Given the description of an element on the screen output the (x, y) to click on. 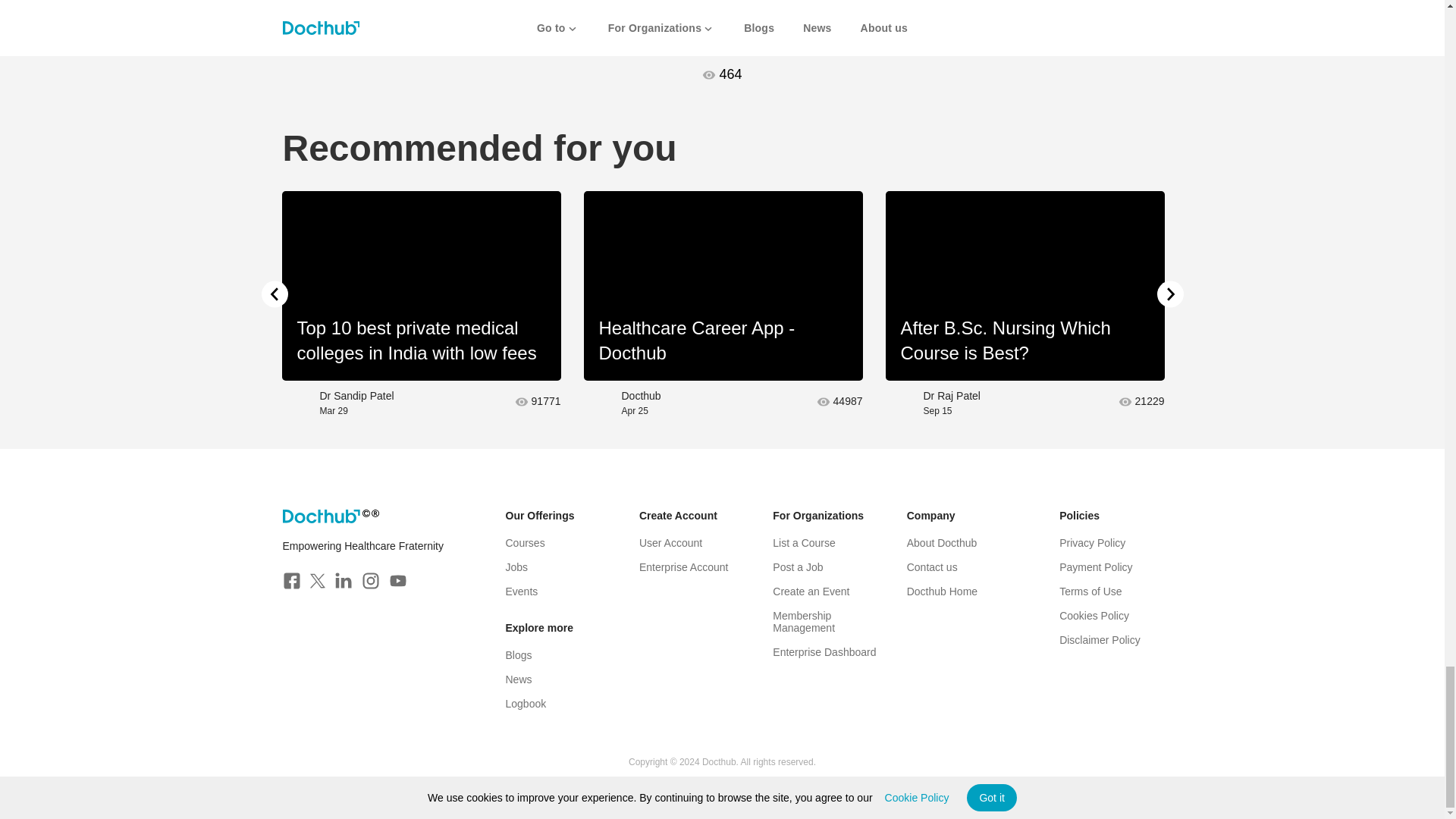
Healthcare Career App - Docthub (723, 285)
News (518, 679)
Top 10 best private medical colleges in India with low fees (421, 285)
Logbook (525, 703)
Courses (524, 542)
Blogs (518, 654)
Jobs (516, 567)
Events (521, 591)
After B.Sc. Nursing Which Course is Best? (1024, 285)
